Given the description of an element on the screen output the (x, y) to click on. 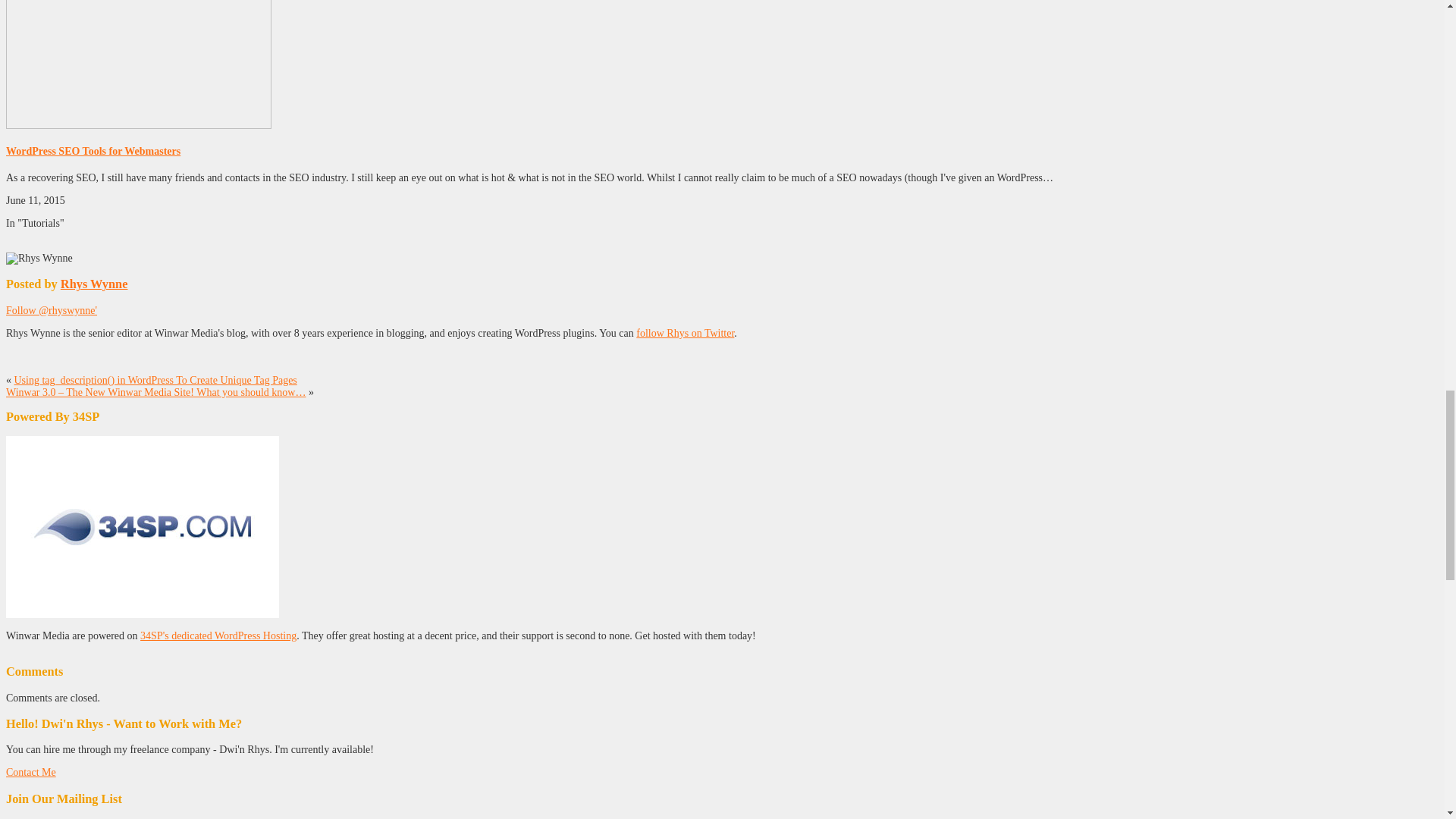
WordPress SEO Tools for Webmasters (137, 125)
Posts by Rhys Wynne (94, 283)
WordPress SEO Tools for Webmasters (92, 151)
WordPress SEO Tools for Webmasters (92, 151)
Rhys Wynne (94, 283)
